Given the description of an element on the screen output the (x, y) to click on. 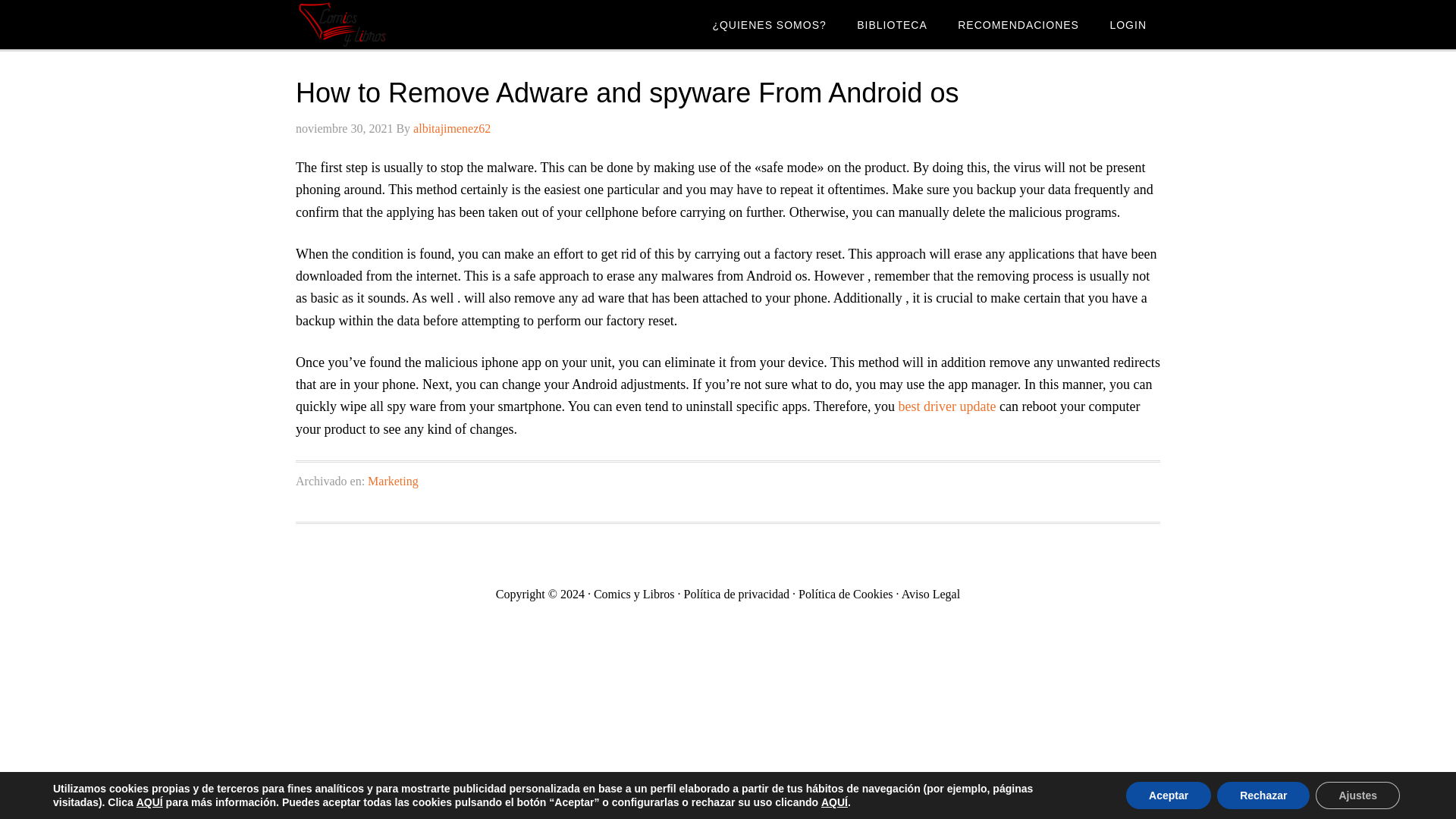
RECOMENDACIONES (1018, 24)
Marketing (393, 481)
COMICS Y LIBROS (416, 24)
Aviso Legal (930, 594)
LOGIN (1128, 24)
albitajimenez62 (451, 128)
best driver update (946, 406)
BIBLIOTECA (891, 24)
